Given the description of an element on the screen output the (x, y) to click on. 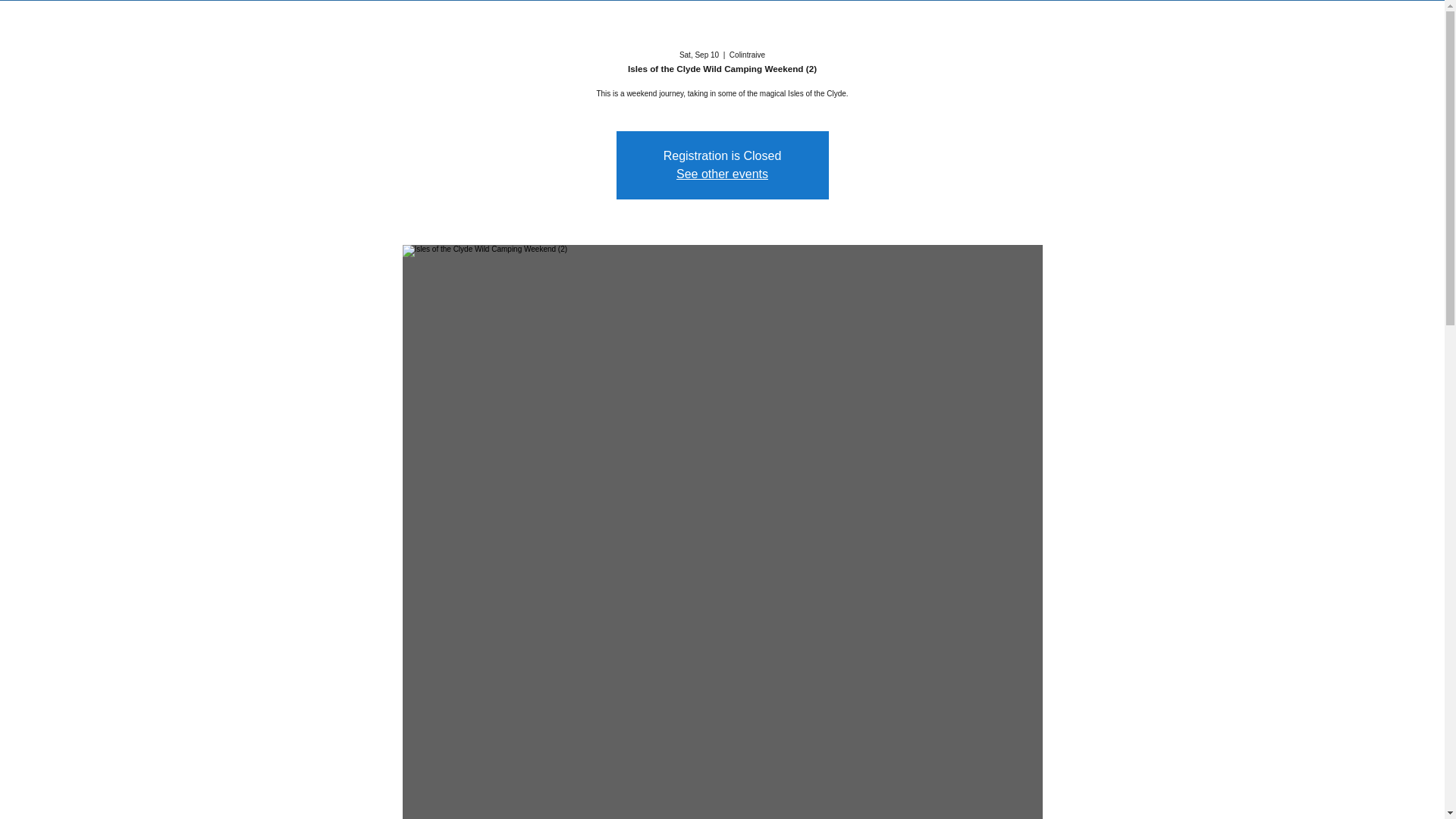
See other events (722, 173)
